Given the description of an element on the screen output the (x, y) to click on. 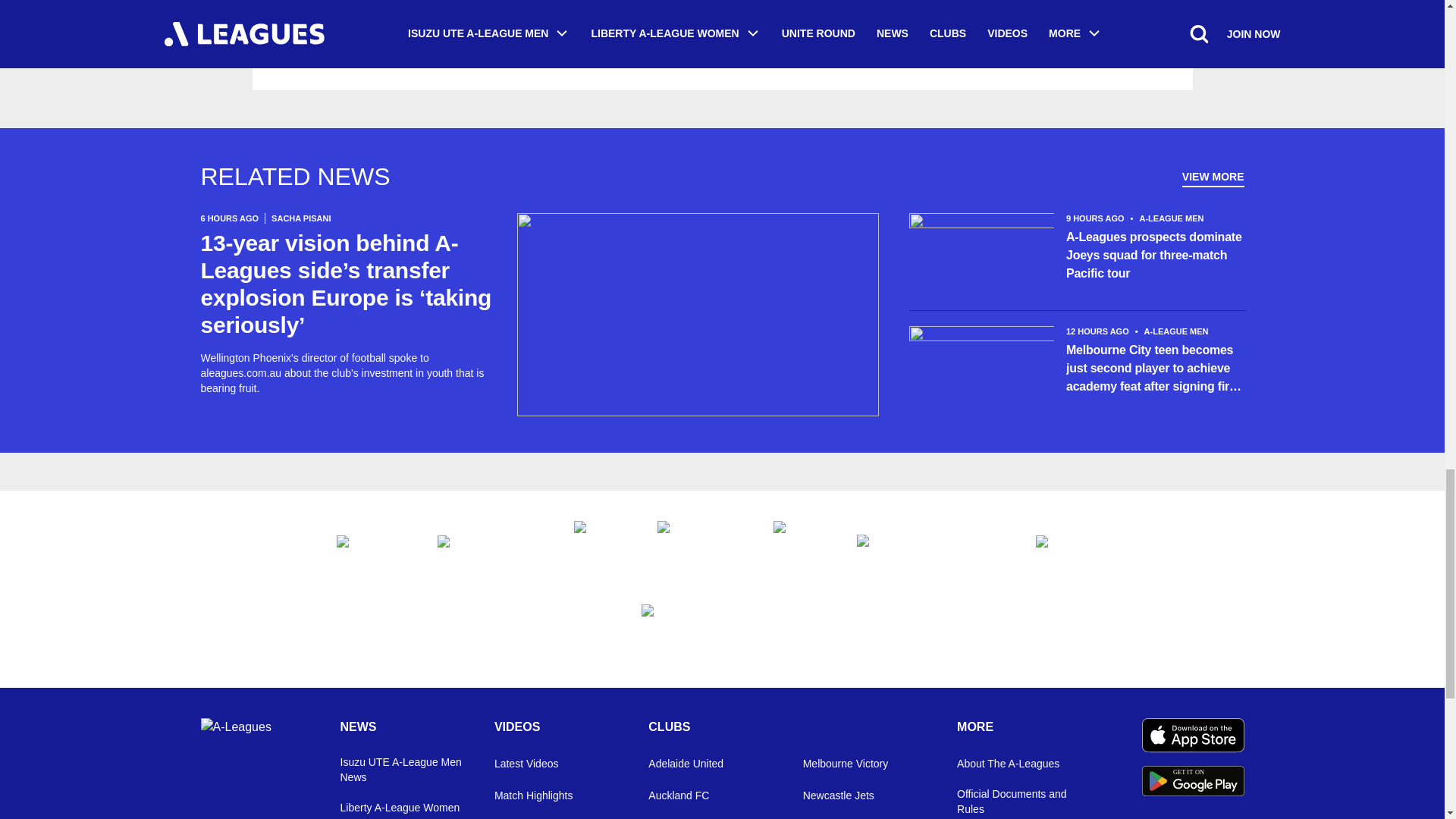
Mitre (722, 630)
IHG (931, 547)
Paramount (699, 547)
eToro (1071, 547)
Channel 10 (599, 547)
McDonalds (800, 547)
Isuzu UTE (371, 547)
Liberty (489, 547)
